Given the description of an element on the screen output the (x, y) to click on. 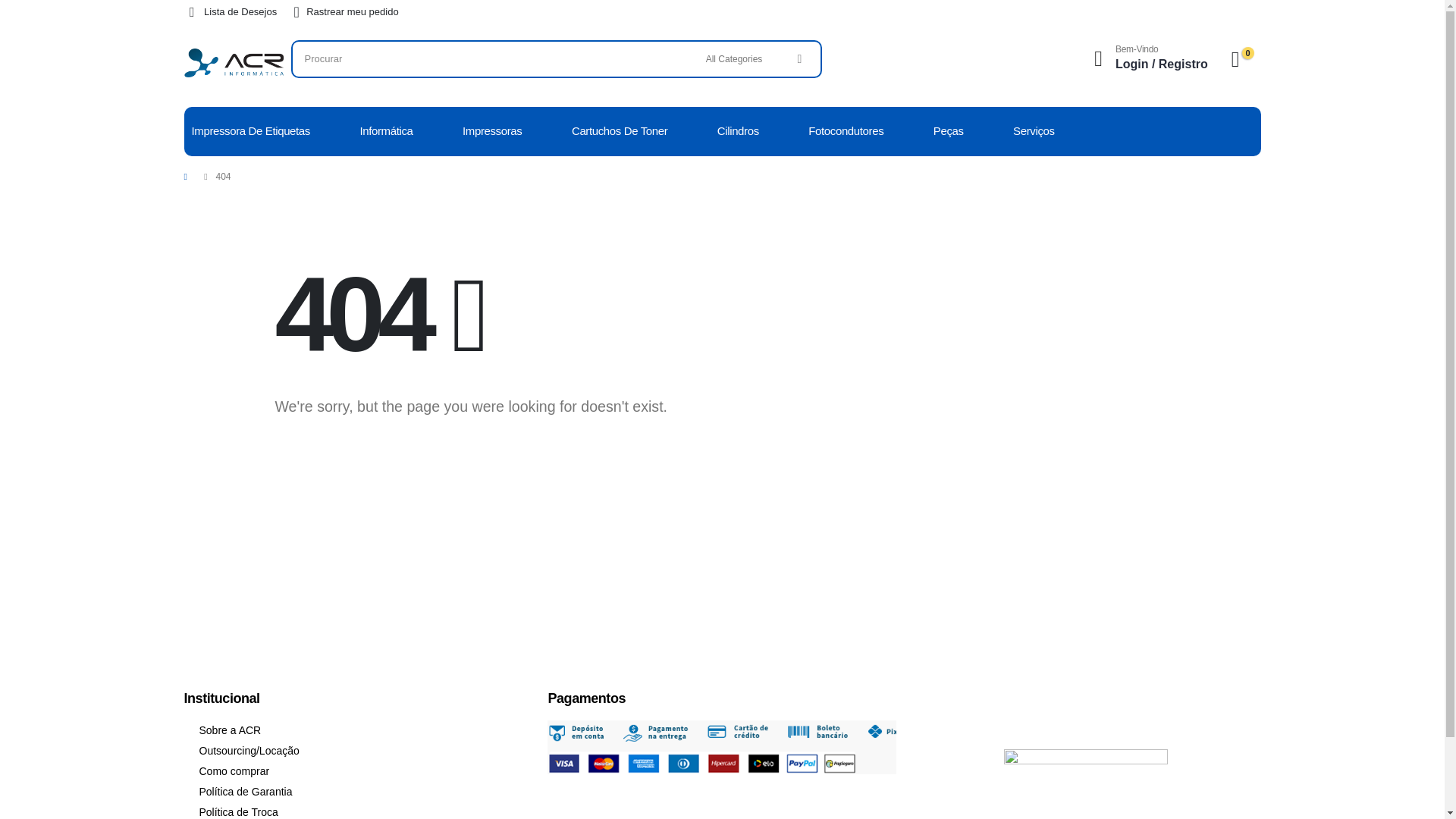
Cartuchos De Toner (619, 131)
Fotocondutores (845, 131)
Search (799, 58)
Impressora De Etiquetas (249, 131)
Lista de Desejos (229, 12)
Impressoras (492, 131)
Rastrear meu pedido (341, 12)
